Given the description of an element on the screen output the (x, y) to click on. 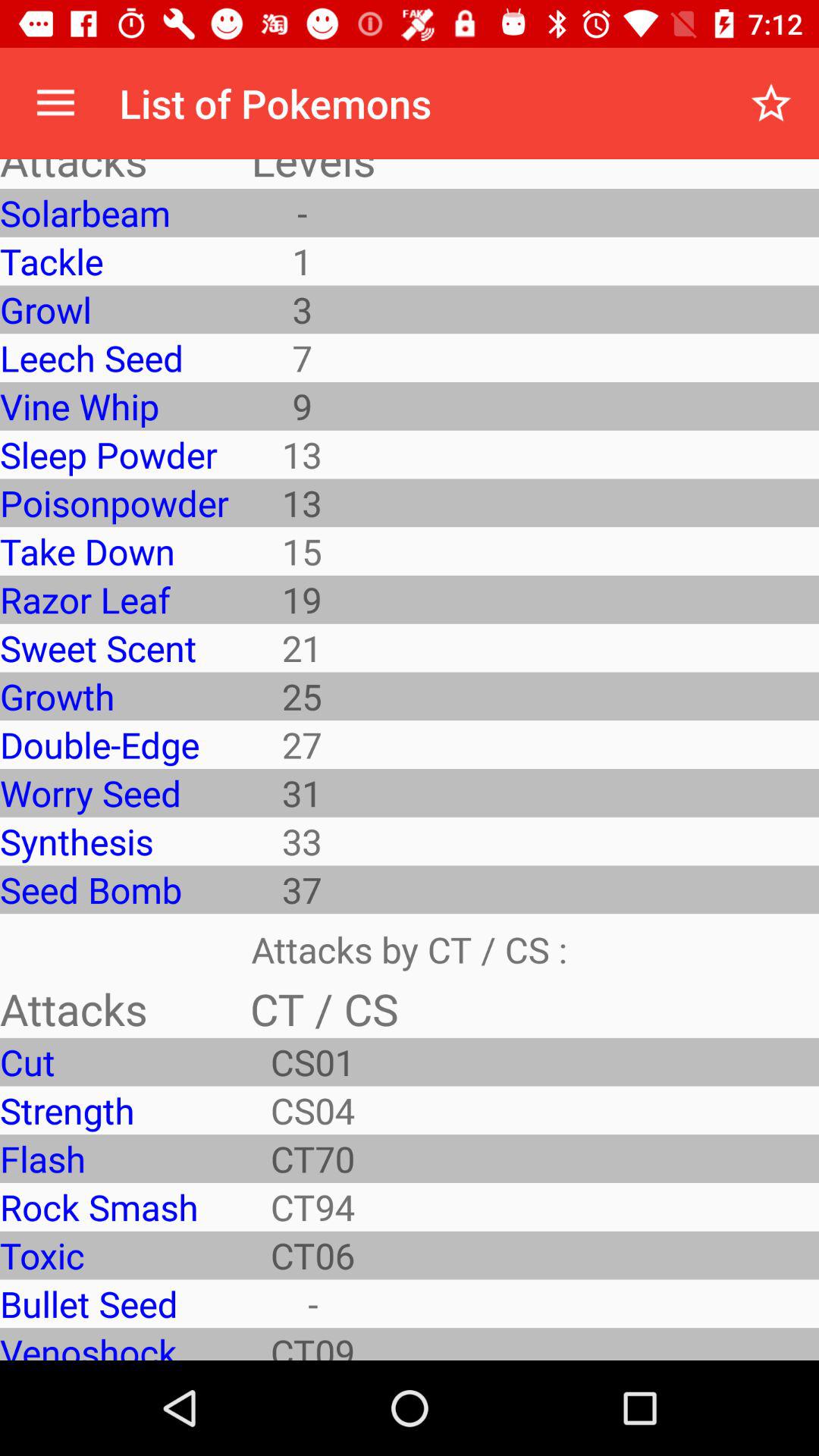
click the icon to the left of list of pokemons item (55, 103)
